Given the description of an element on the screen output the (x, y) to click on. 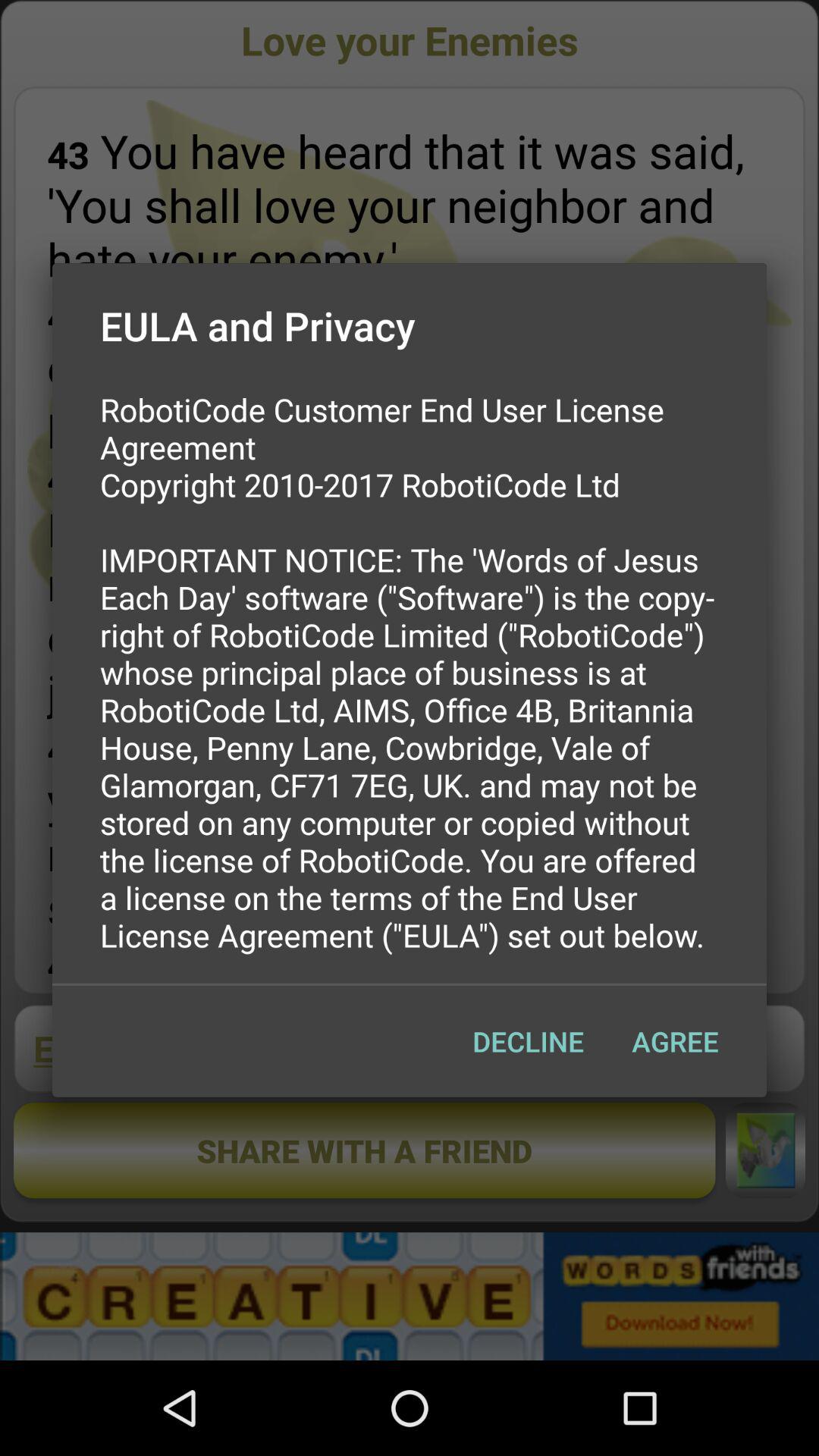
turn on app below the roboticode customer end item (527, 1041)
